Given the description of an element on the screen output the (x, y) to click on. 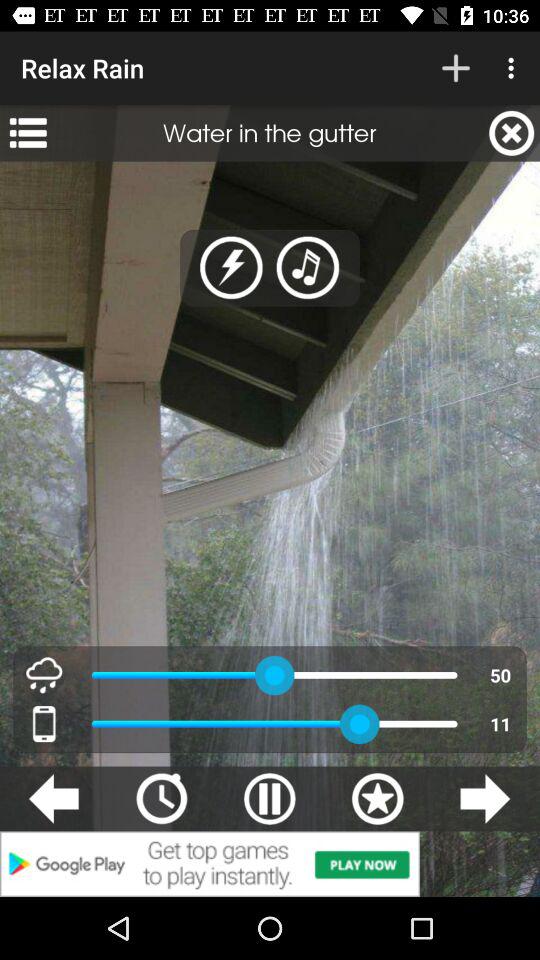
turn off item to the left of water in the (28, 133)
